Given the description of an element on the screen output the (x, y) to click on. 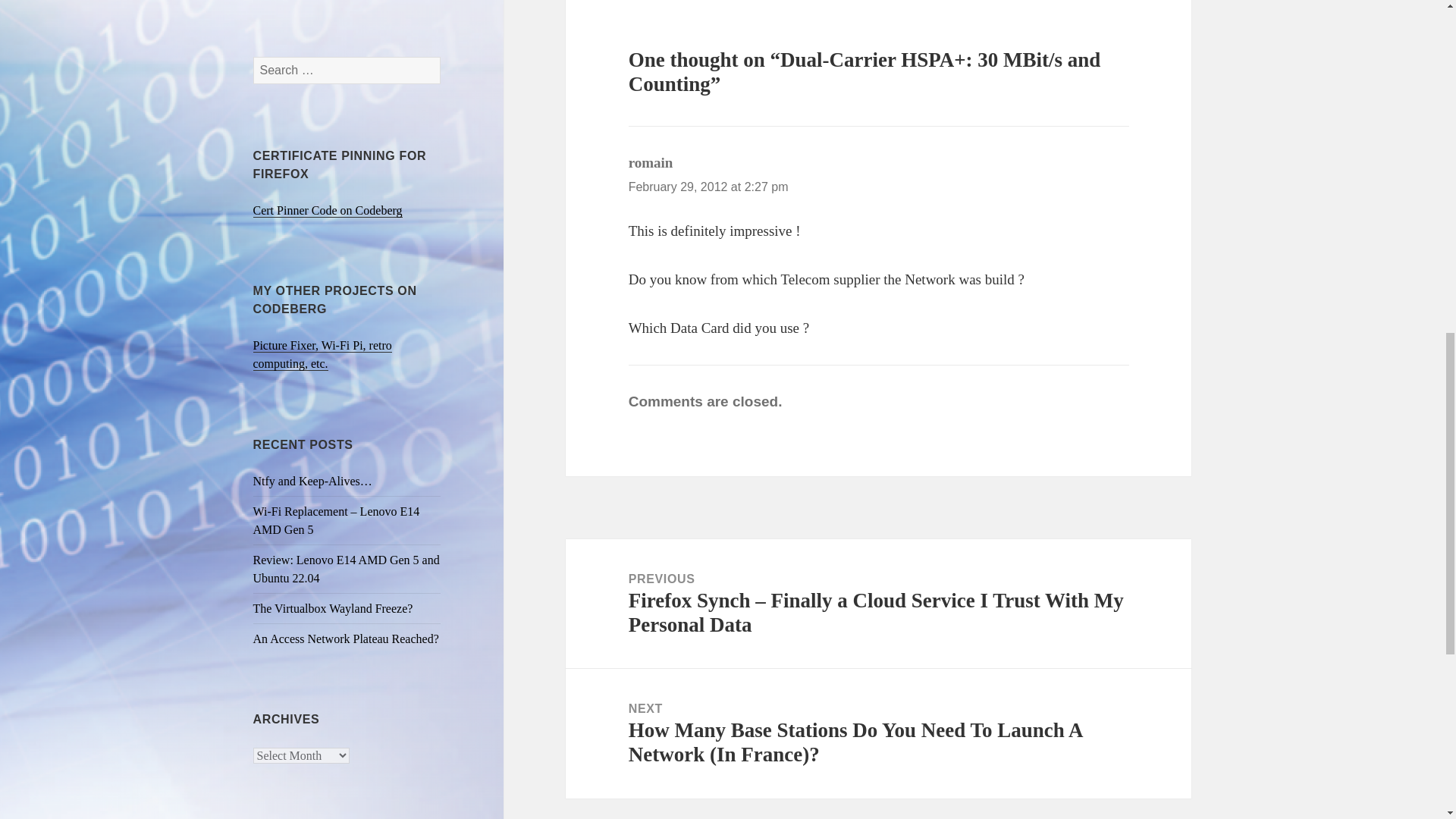
Picture Fixer, Wi-Fi Pi, retro computing, etc. (322, 355)
Cert Pinner Code on Codeberg (328, 210)
February 29, 2012 at 2:27 pm (708, 186)
An Access Network Plateau Reached? (346, 638)
The Virtualbox Wayland Freeze? (333, 608)
Review: Lenovo E14 AMD Gen 5 and Ubuntu 22.04 (346, 568)
